Given the description of an element on the screen output the (x, y) to click on. 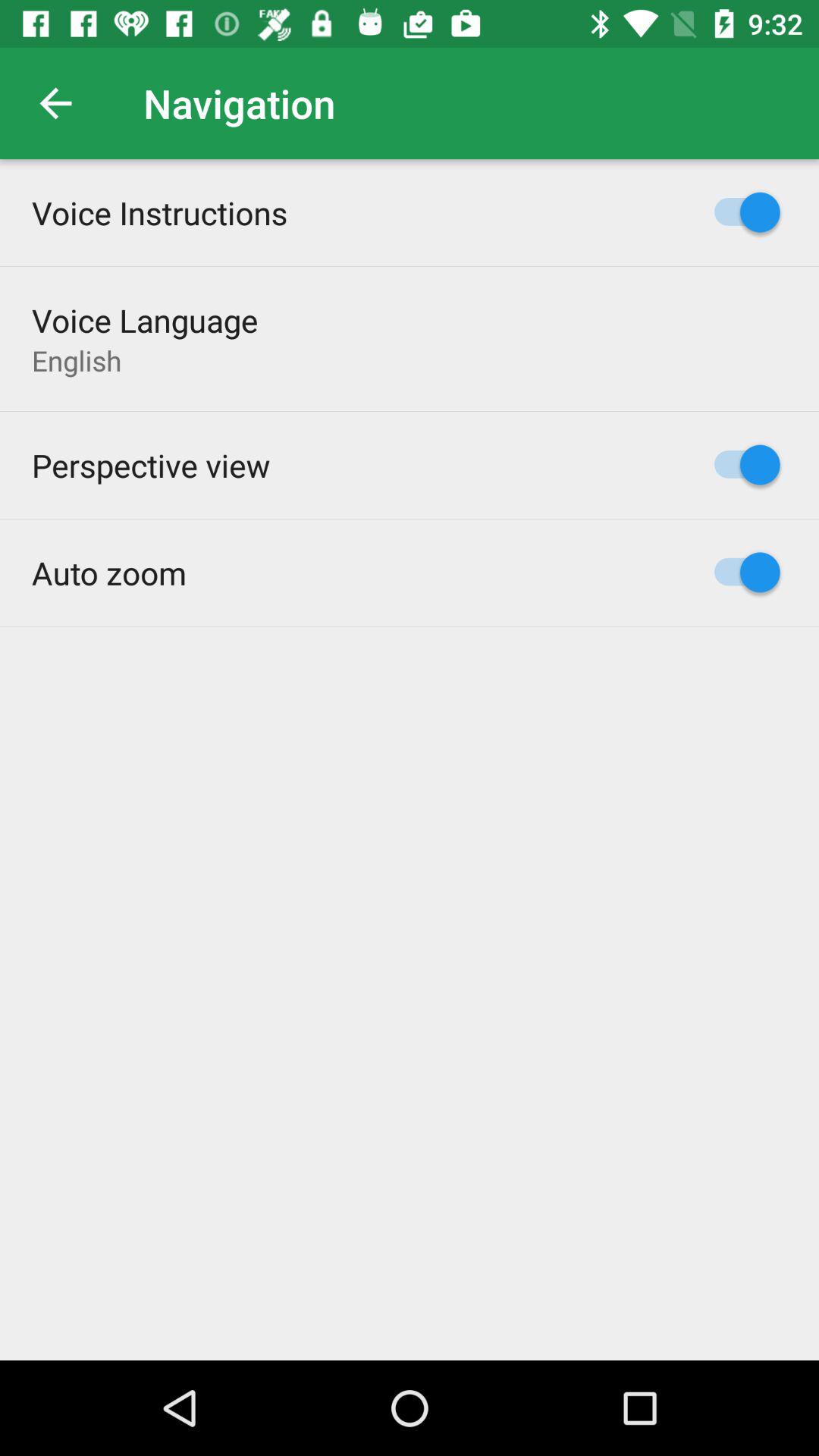
tap item below the voice instructions item (144, 319)
